Given the description of an element on the screen output the (x, y) to click on. 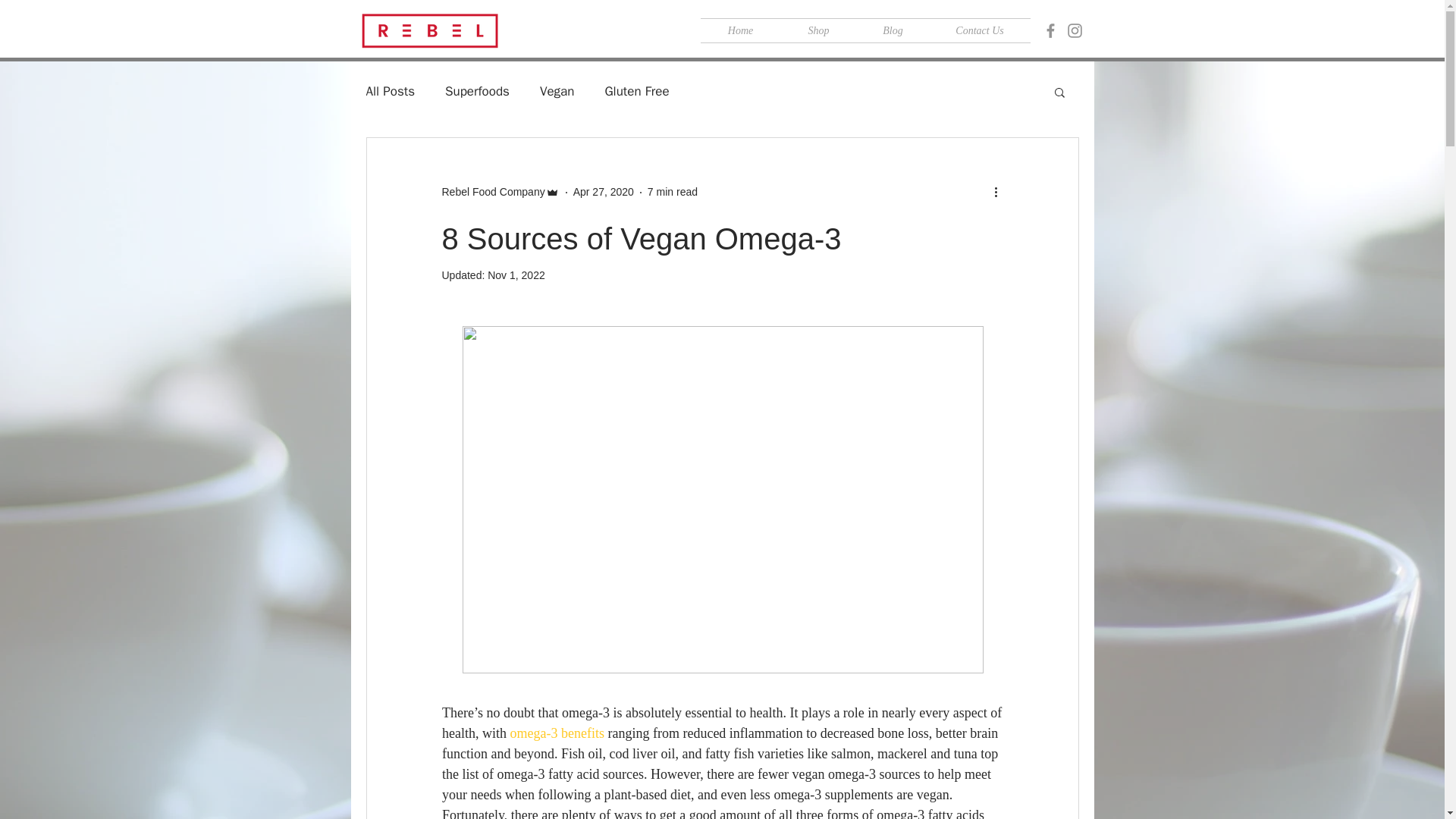
Blog (893, 30)
Apr 27, 2020 (603, 191)
Superfoods (477, 90)
Contact Us (980, 30)
Gluten Free (636, 90)
Shop (818, 30)
Nov 1, 2022 (515, 275)
Rebel Food Company  (492, 191)
Vegan (557, 90)
All Posts (389, 90)
7 min read (672, 191)
omega-3 benefits (556, 733)
Rebel Food Company (500, 191)
Home (740, 30)
